Given the description of an element on the screen output the (x, y) to click on. 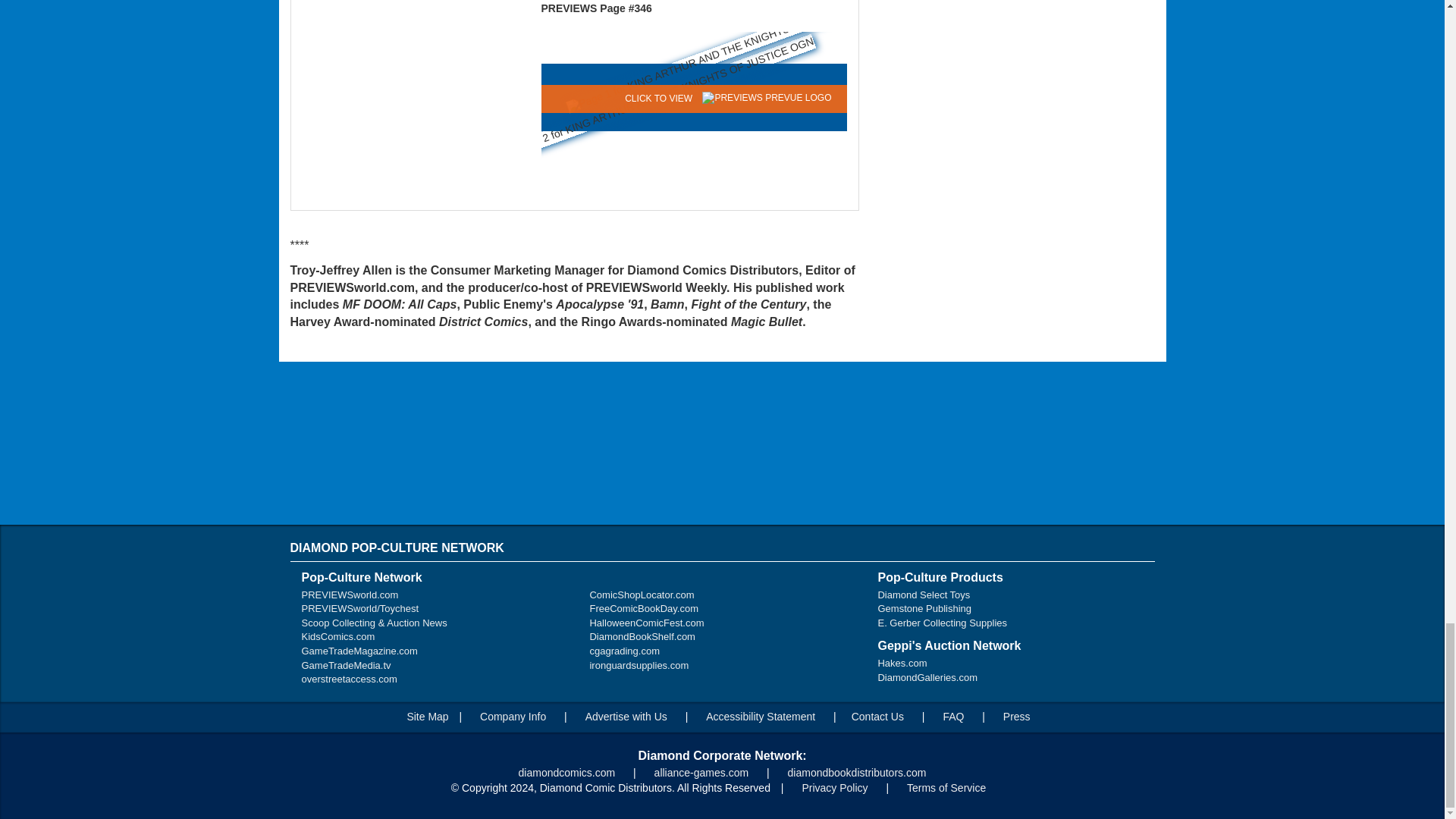
3rd party ad content (722, 445)
